Given the description of an element on the screen output the (x, y) to click on. 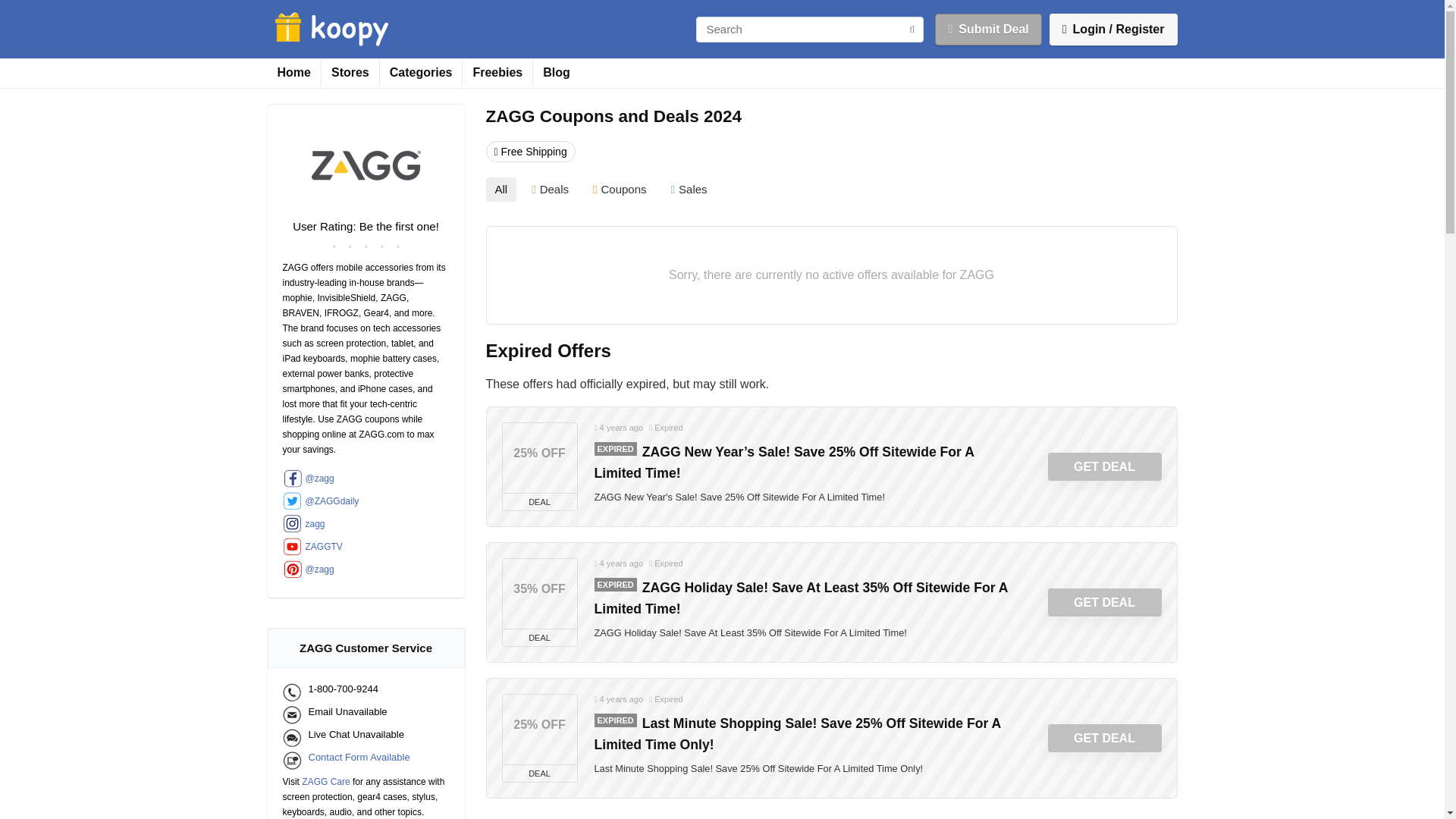
Blog (555, 72)
ZAGG Care (325, 781)
Stores (349, 72)
GET DEAL (1104, 737)
GET DEAL (1104, 466)
zagg (365, 523)
GET DEAL (1104, 602)
Freebies (497, 72)
Home (293, 72)
ZAGGTV (365, 546)
Submit Deal (987, 29)
Contact Form Available (345, 760)
Categories (421, 72)
